Given the description of an element on the screen output the (x, y) to click on. 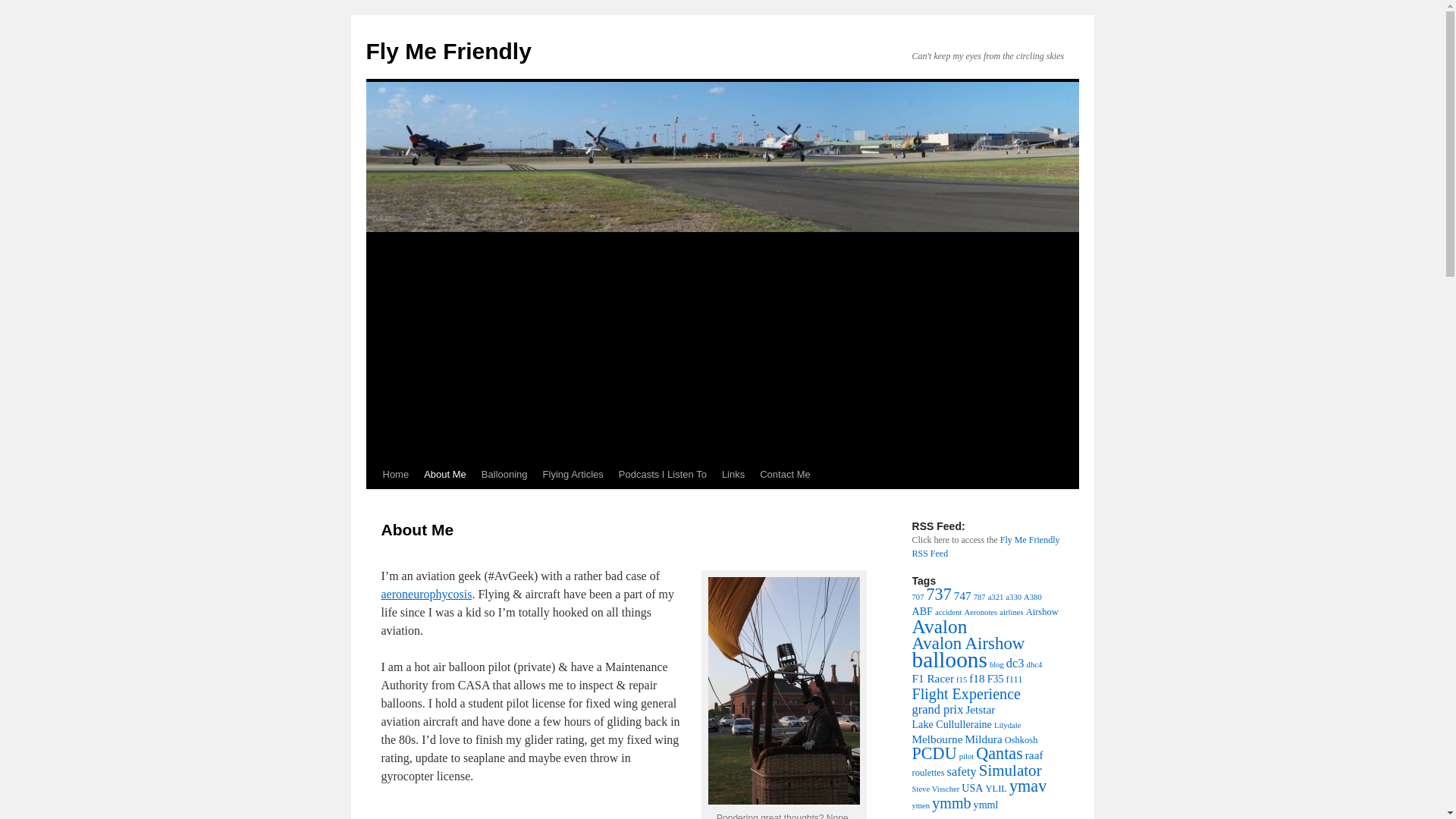
747 (962, 594)
Fly Me Friendly (448, 50)
Home (395, 474)
About Me (445, 474)
Links (733, 474)
Fly Me Friendly RSS Feed (985, 546)
Ballooning (504, 474)
Contact Me (784, 474)
Podcasts I Listen To (662, 474)
737 (938, 593)
aeroneurophycosis (425, 594)
Flying Articles (573, 474)
707 (917, 596)
